Given the description of an element on the screen output the (x, y) to click on. 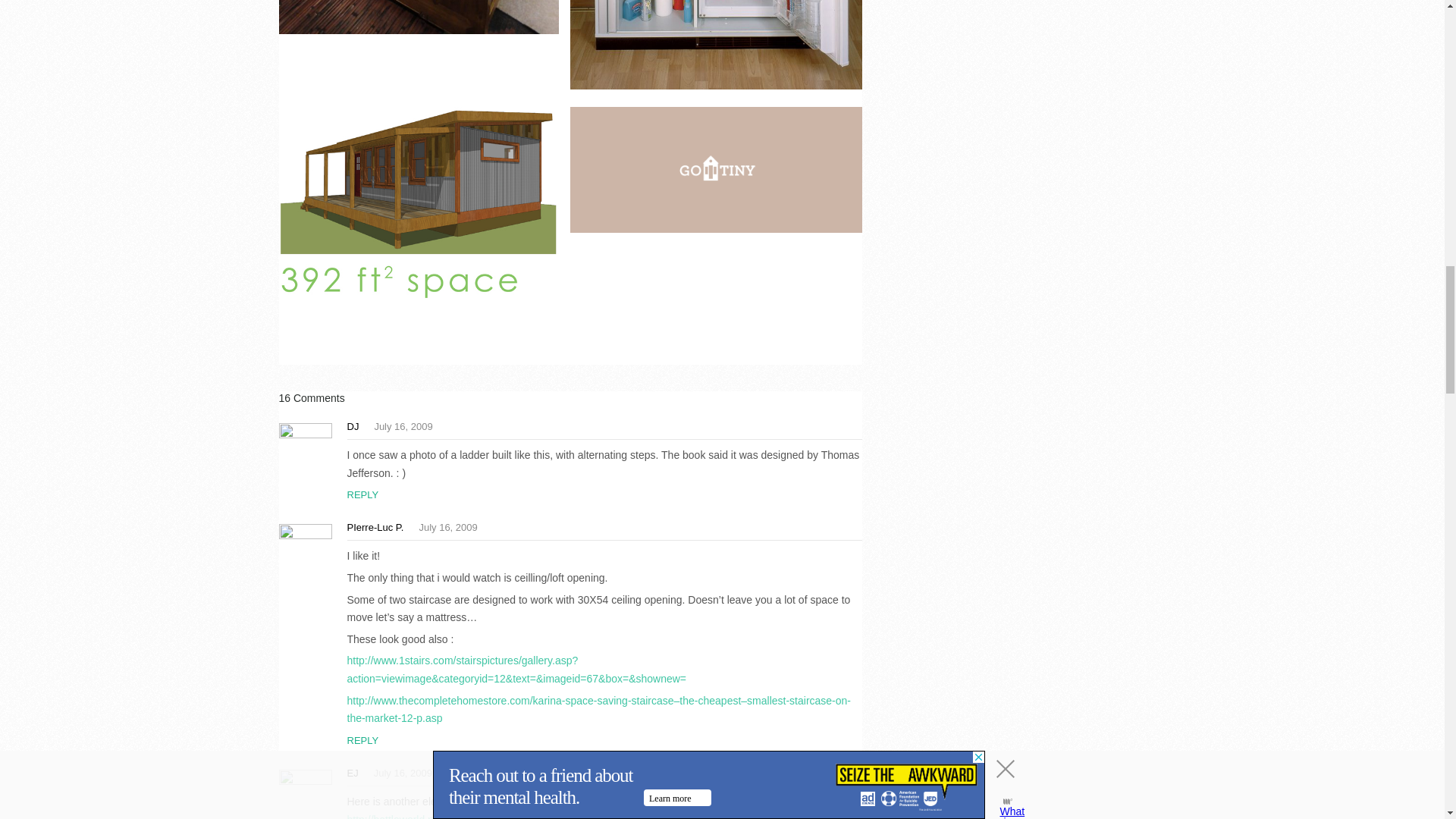
REPLY (362, 494)
Clever Pull-Out Compact Kitchen (715, 169)
Complete Mini Kitchens (715, 45)
REPLY (362, 740)
Handmade Mini Kitchens (419, 17)
